Given the description of an element on the screen output the (x, y) to click on. 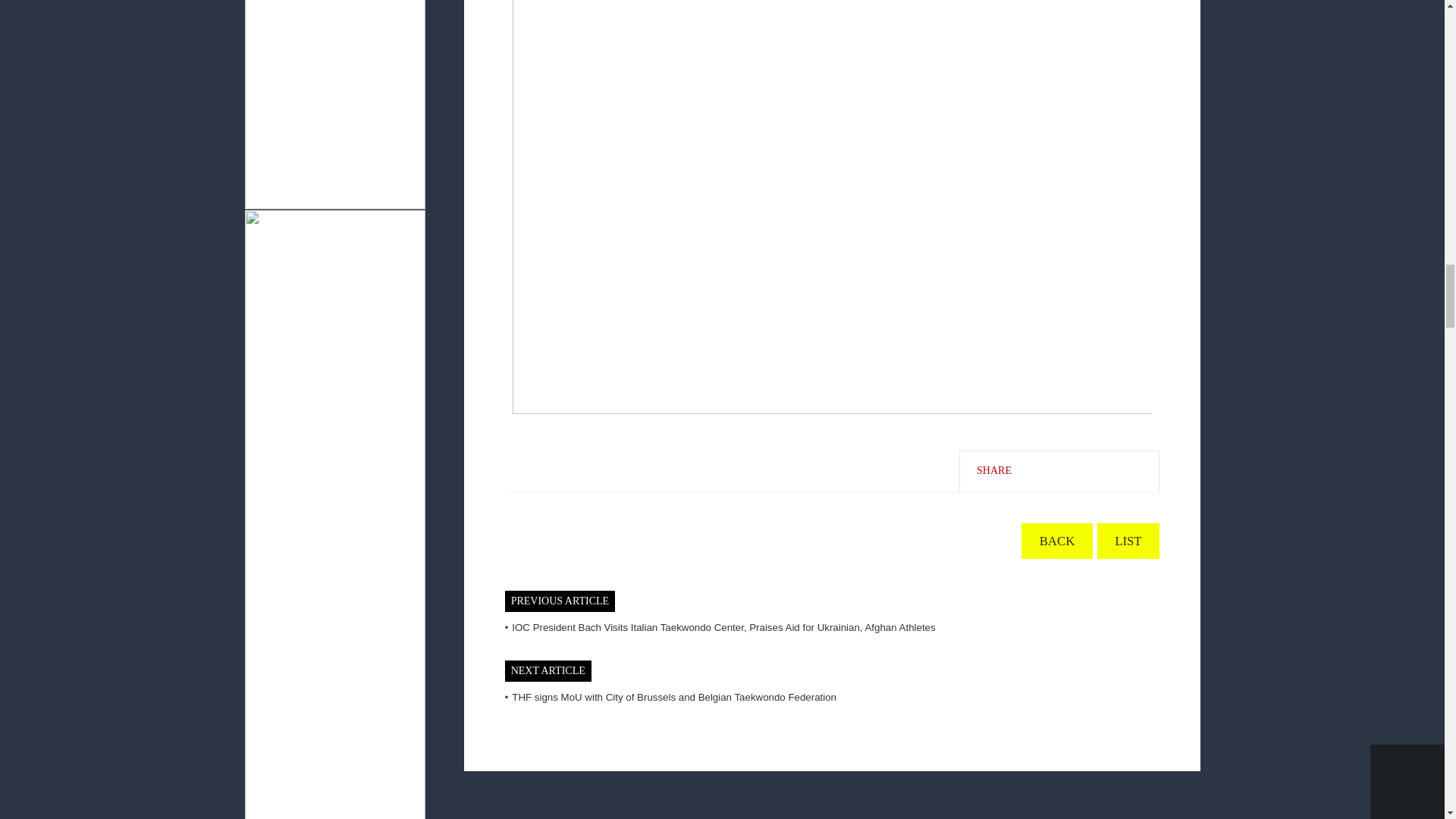
pinterest (1137, 469)
twitter (1067, 469)
facebook (1033, 469)
google (1102, 469)
